Given the description of an element on the screen output the (x, y) to click on. 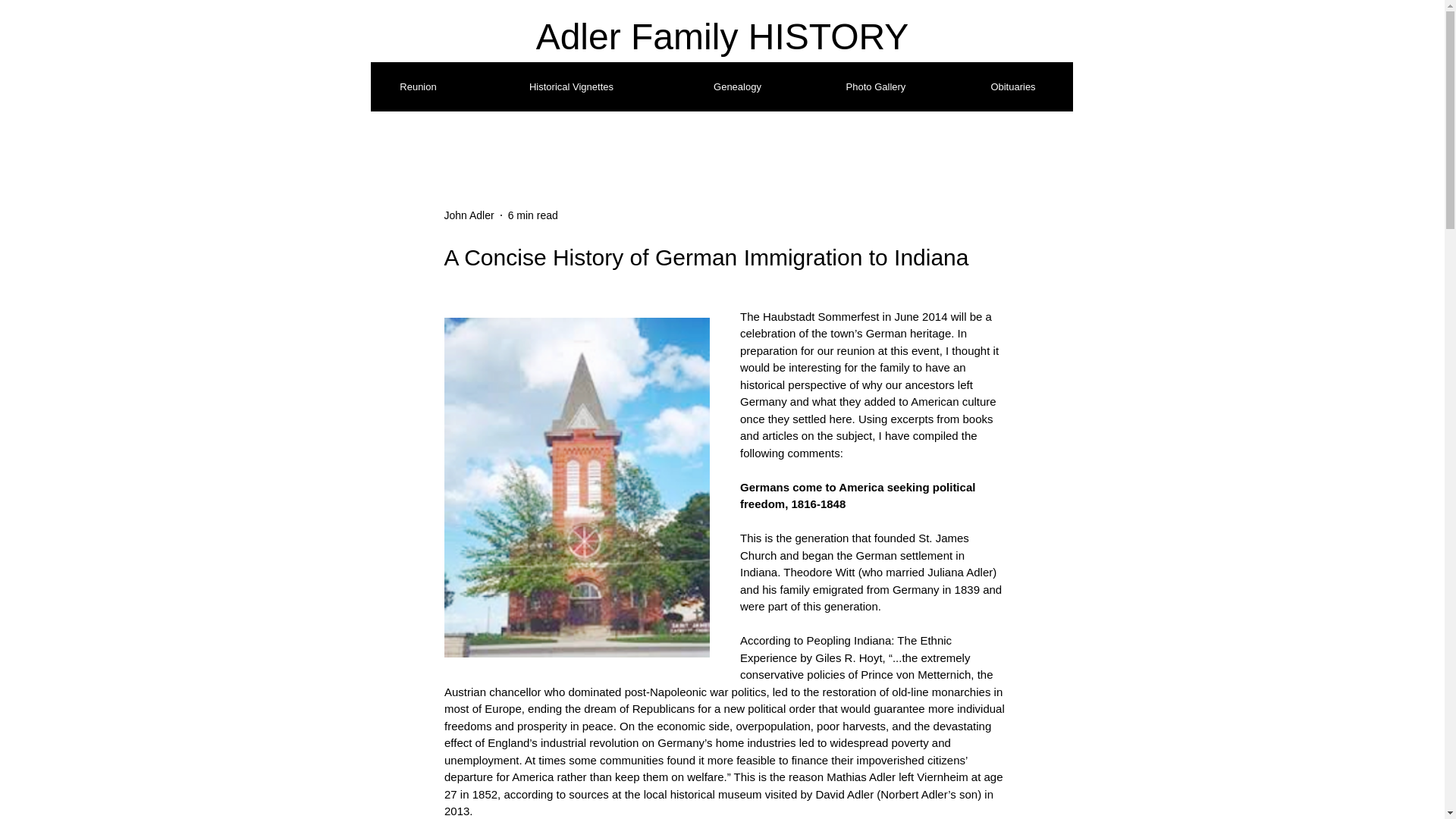
Reunion (417, 86)
6 min read (532, 215)
Genealogy (737, 86)
John Adler (469, 215)
Historical Vignettes (571, 86)
Obituaries (1013, 86)
Photo Gallery (875, 86)
